Given the description of an element on the screen output the (x, y) to click on. 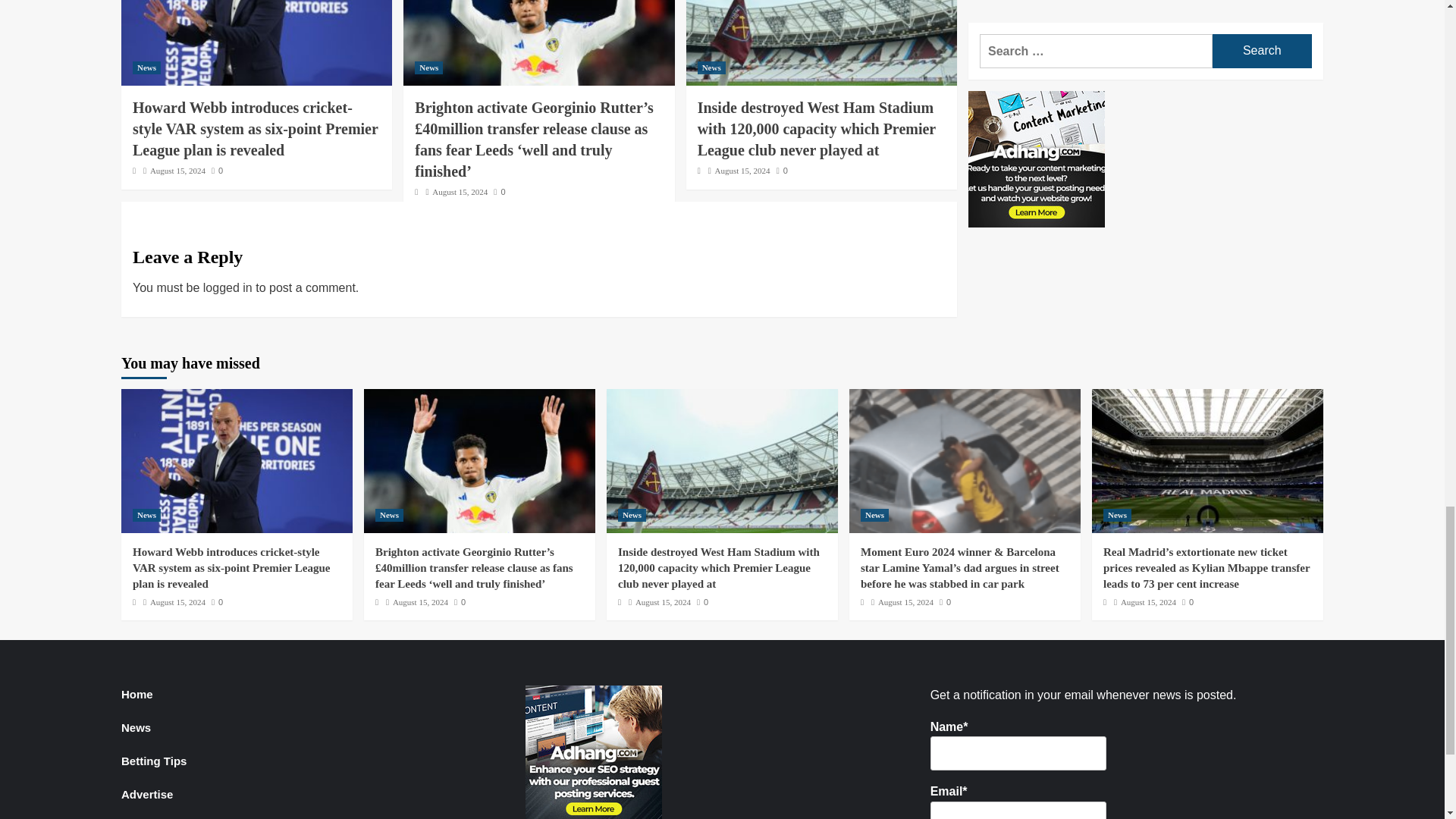
August 15, 2024 (459, 191)
News (428, 67)
News (146, 67)
August 15, 2024 (177, 170)
0 (216, 170)
